Given the description of an element on the screen output the (x, y) to click on. 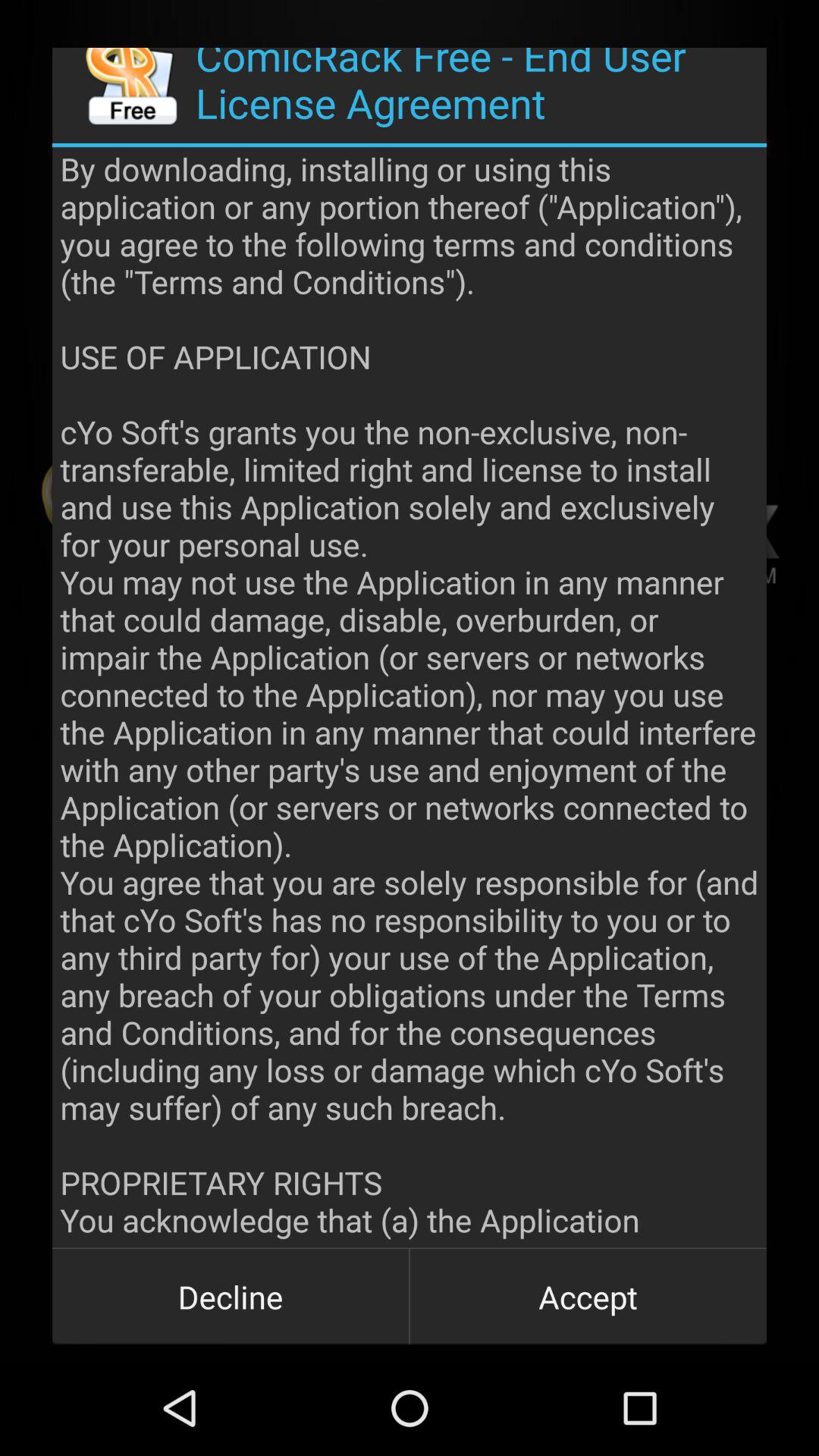
turn on icon next to the decline (588, 1296)
